Given the description of an element on the screen output the (x, y) to click on. 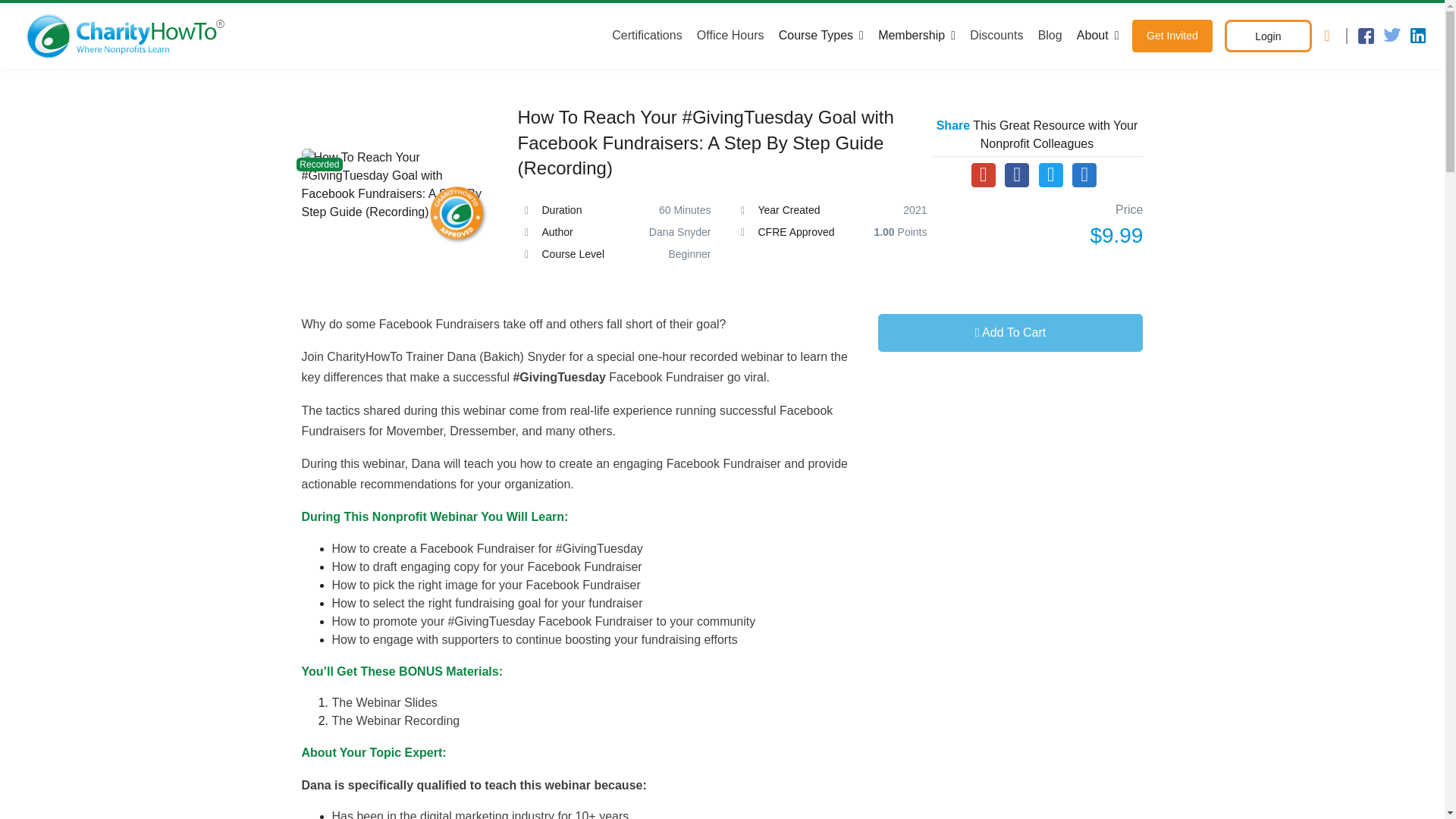
Discounts (996, 35)
About (1096, 35)
Office Hours (729, 35)
Get Invited (1172, 35)
Course Types (820, 35)
Certifications (649, 35)
Membership (916, 35)
Login (1267, 35)
